Given the description of an element on the screen output the (x, y) to click on. 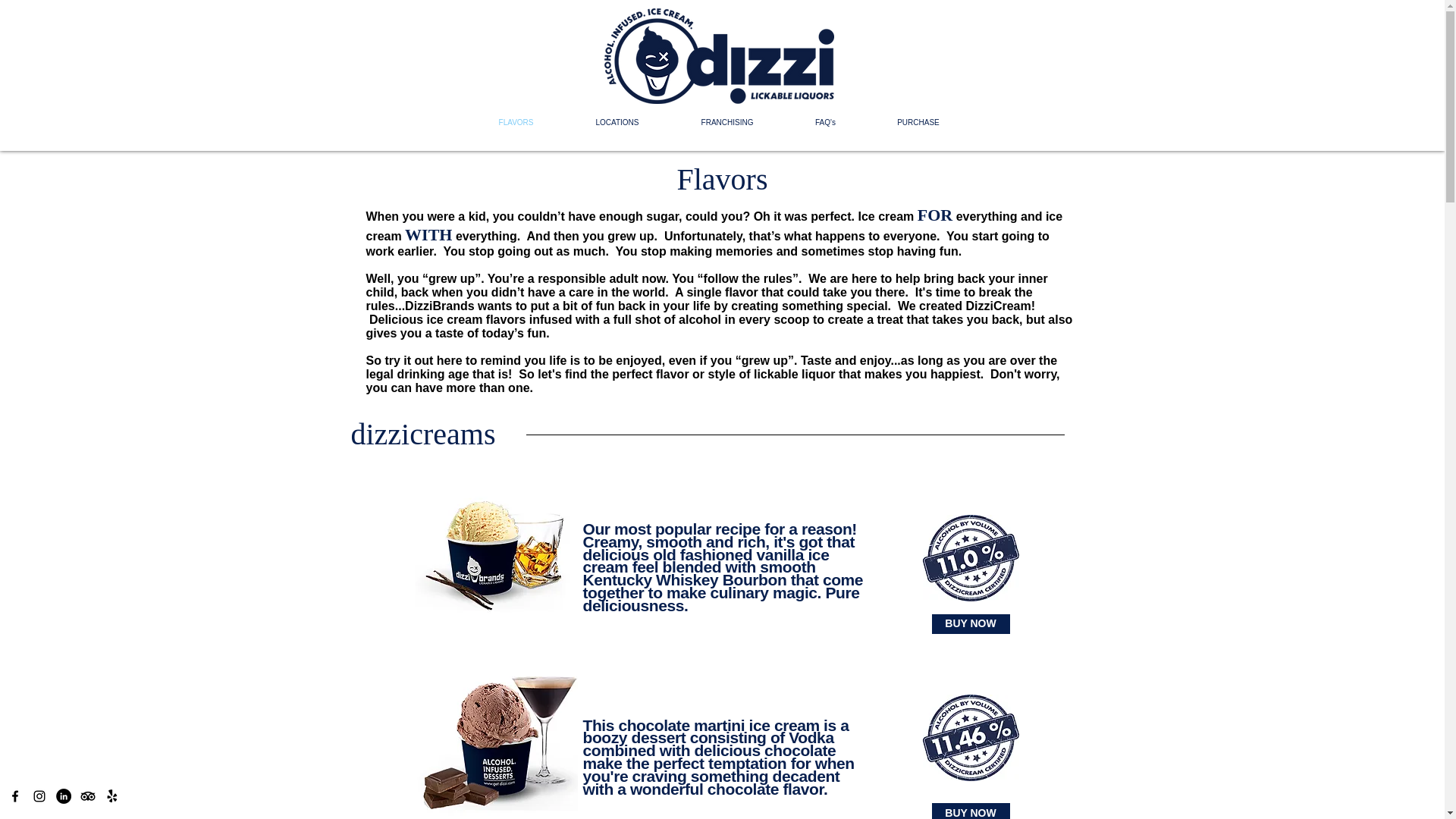
BUY NOW (970, 623)
PURCHASE (917, 122)
FRANCHISING (726, 122)
LOCATIONS (616, 122)
FAQ's (825, 122)
FLAVORS (515, 122)
BUY NOW (970, 810)
